Given the description of an element on the screen output the (x, y) to click on. 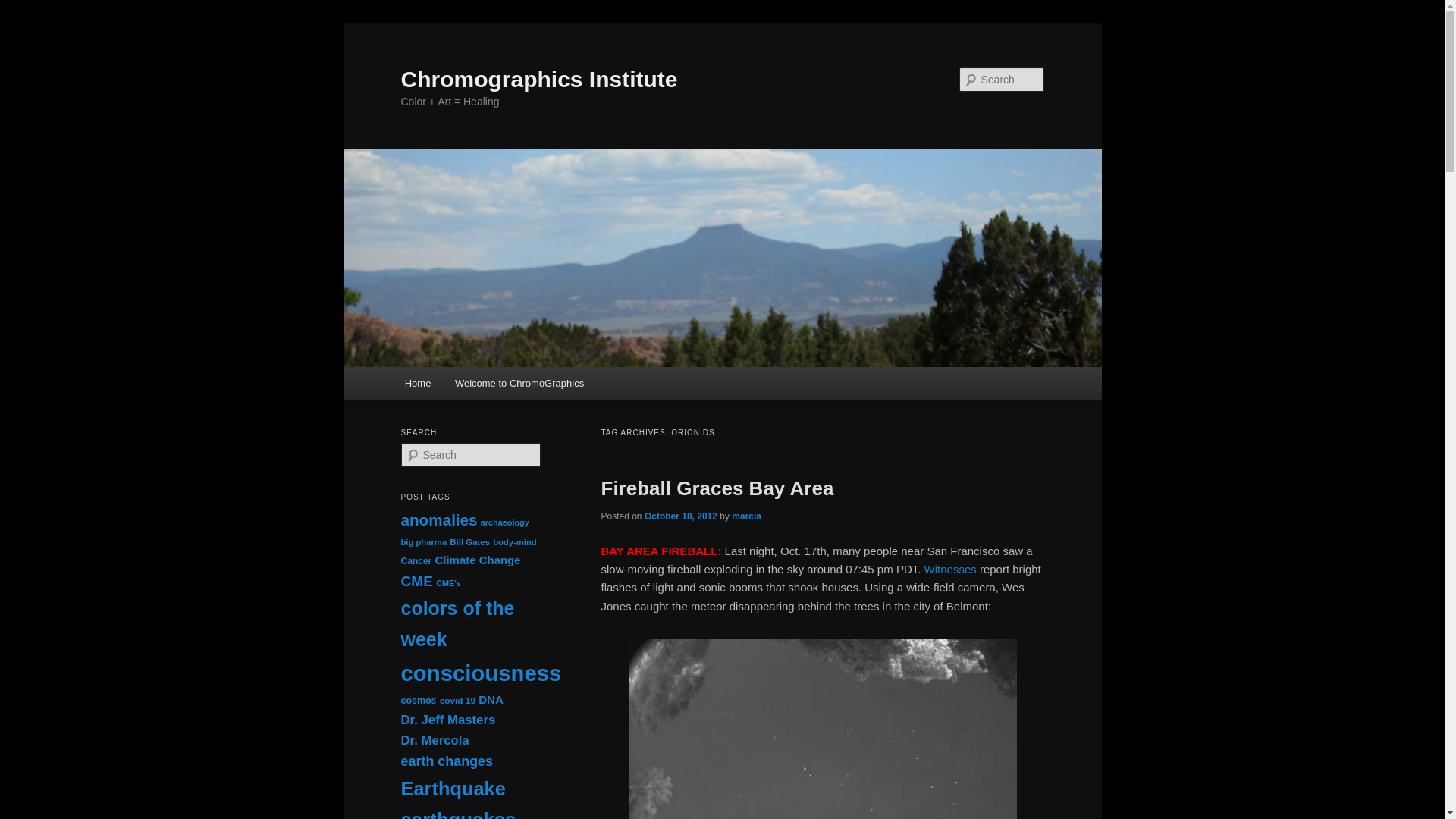
Home (417, 382)
anomalies (438, 519)
marcia (746, 516)
big pharma (423, 542)
View all posts by marcia (746, 516)
Chromographics Institute (538, 78)
Search (21, 11)
Welcome to ChromoGraphics (518, 382)
Fireball Graces Bay Area (715, 487)
12:41 pm (681, 516)
archaeology (504, 522)
Search (24, 8)
Witnesses (950, 568)
October 18, 2012 (681, 516)
